Given the description of an element on the screen output the (x, y) to click on. 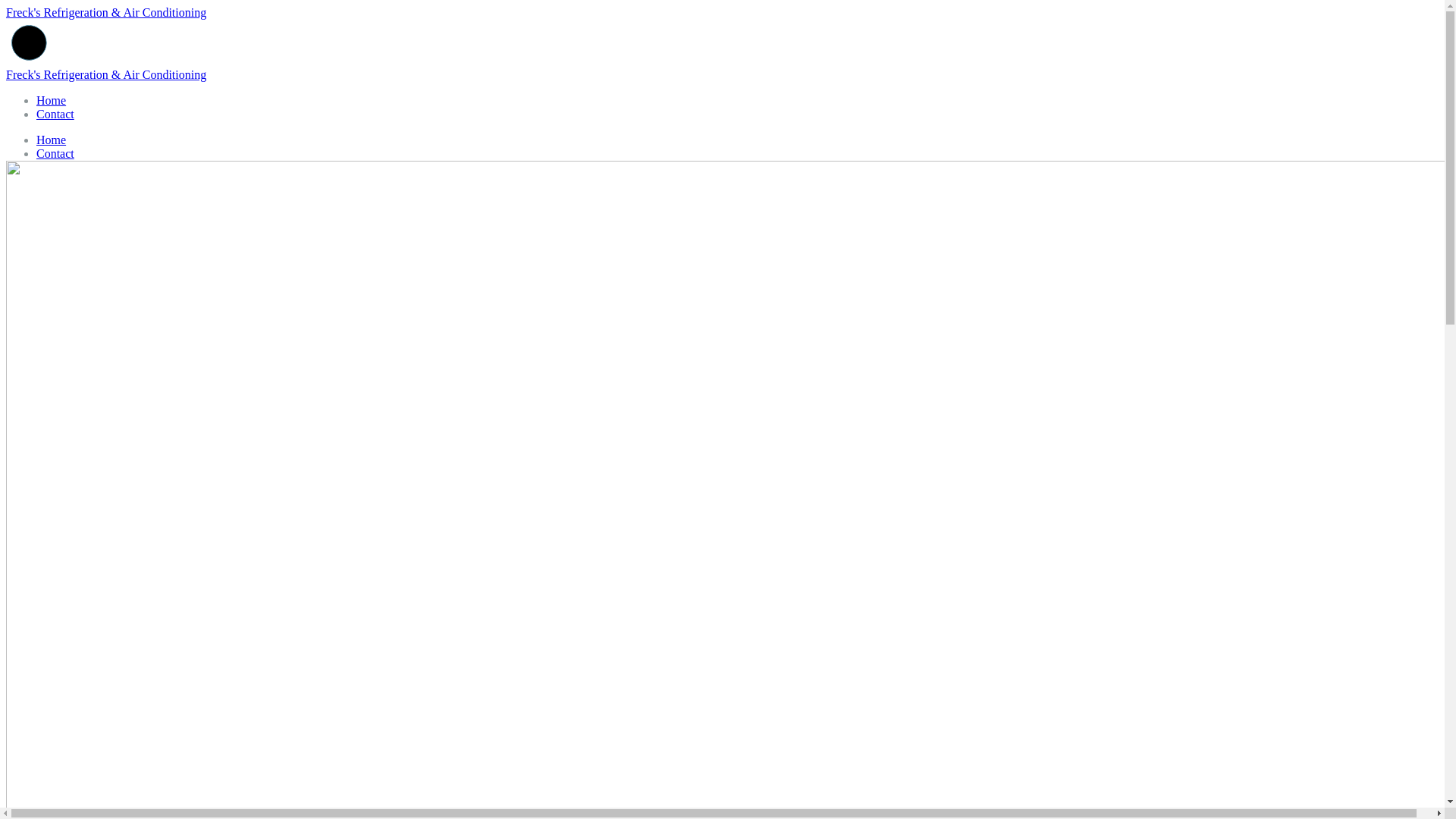
Contact Element type: text (55, 113)
Home Element type: text (50, 139)
Freck's Refrigeration & Air Conditioning Element type: text (106, 74)
Contact Element type: text (55, 153)
Home Element type: text (50, 100)
Freck's Refrigeration & Air Conditioning Element type: text (106, 12)
